Given the description of an element on the screen output the (x, y) to click on. 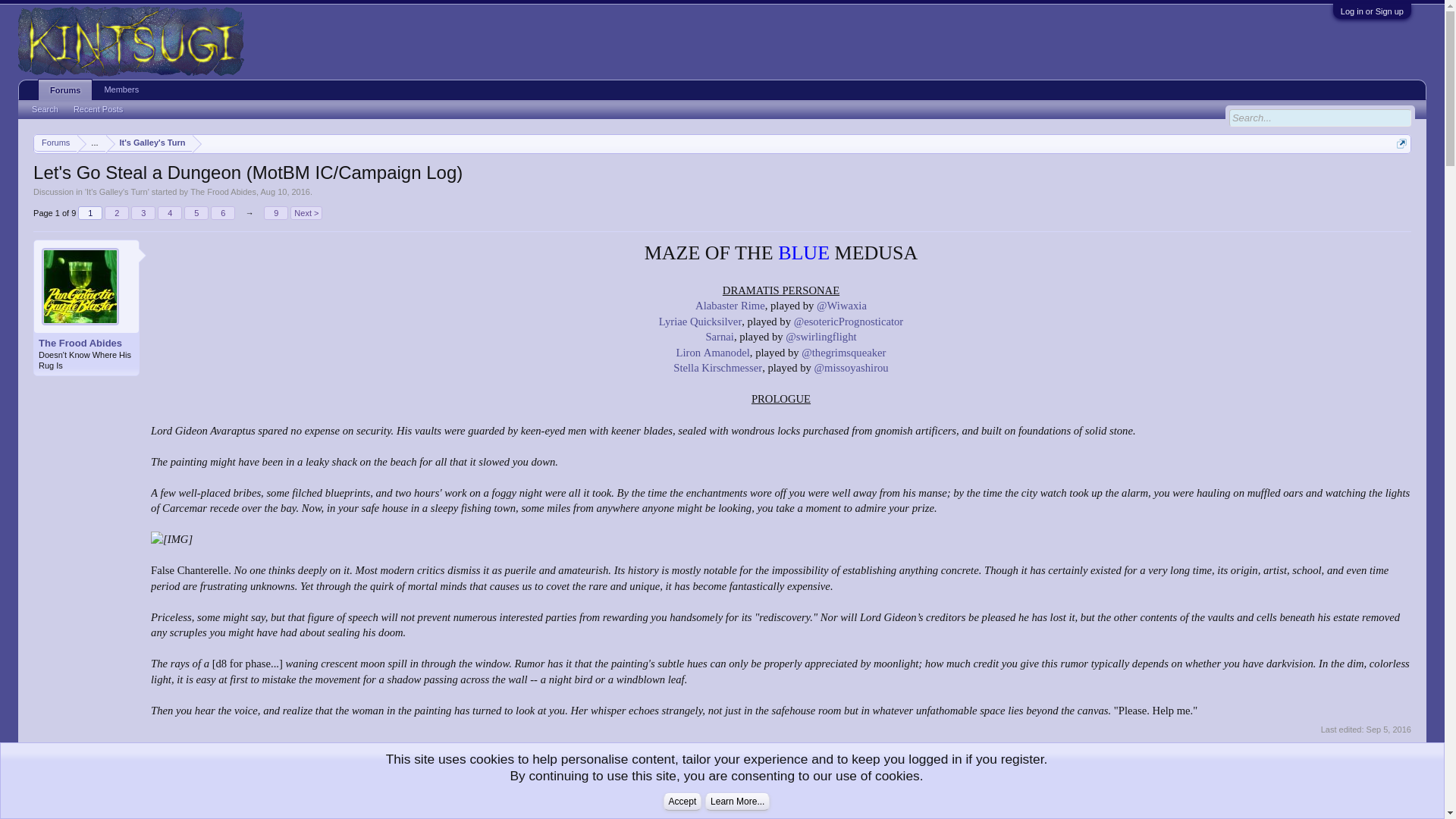
Liron (688, 352)
Amanodel (169, 213)
The Frood Abides (726, 352)
6 (86, 343)
Alabaster (222, 213)
Lyriae Quicksilver (716, 305)
3 (700, 321)
4 (143, 213)
Stella Kirschmesser (169, 213)
Rime (717, 367)
Aug 10, 2016 at 12:32 PM (752, 305)
It's Galley's Turn (272, 750)
Forums (116, 191)
Open quick navigation (55, 143)
